Given the description of an element on the screen output the (x, y) to click on. 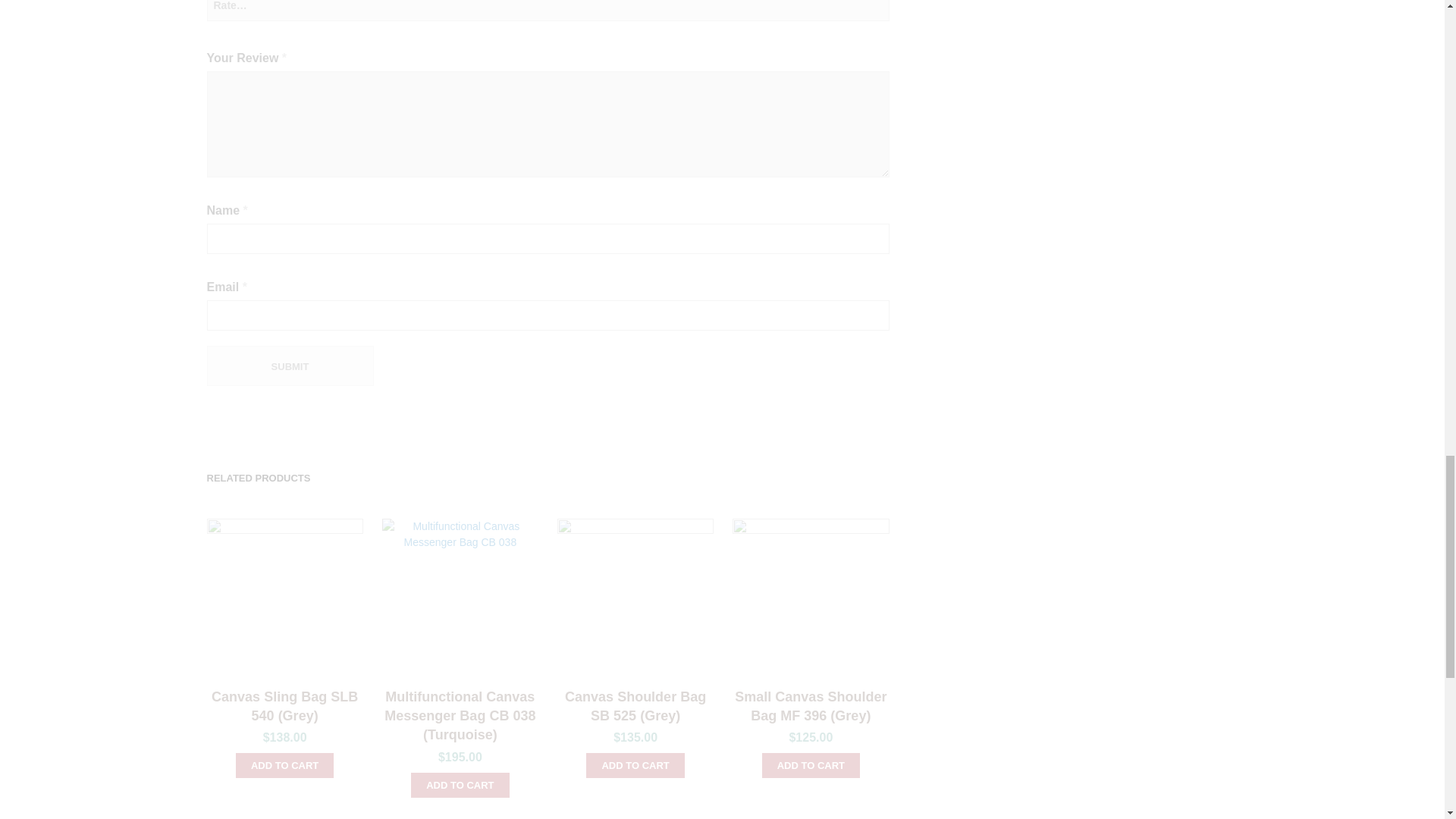
Submit (289, 365)
Qty (1019, 6)
1 (1019, 6)
